Given the description of an element on the screen output the (x, y) to click on. 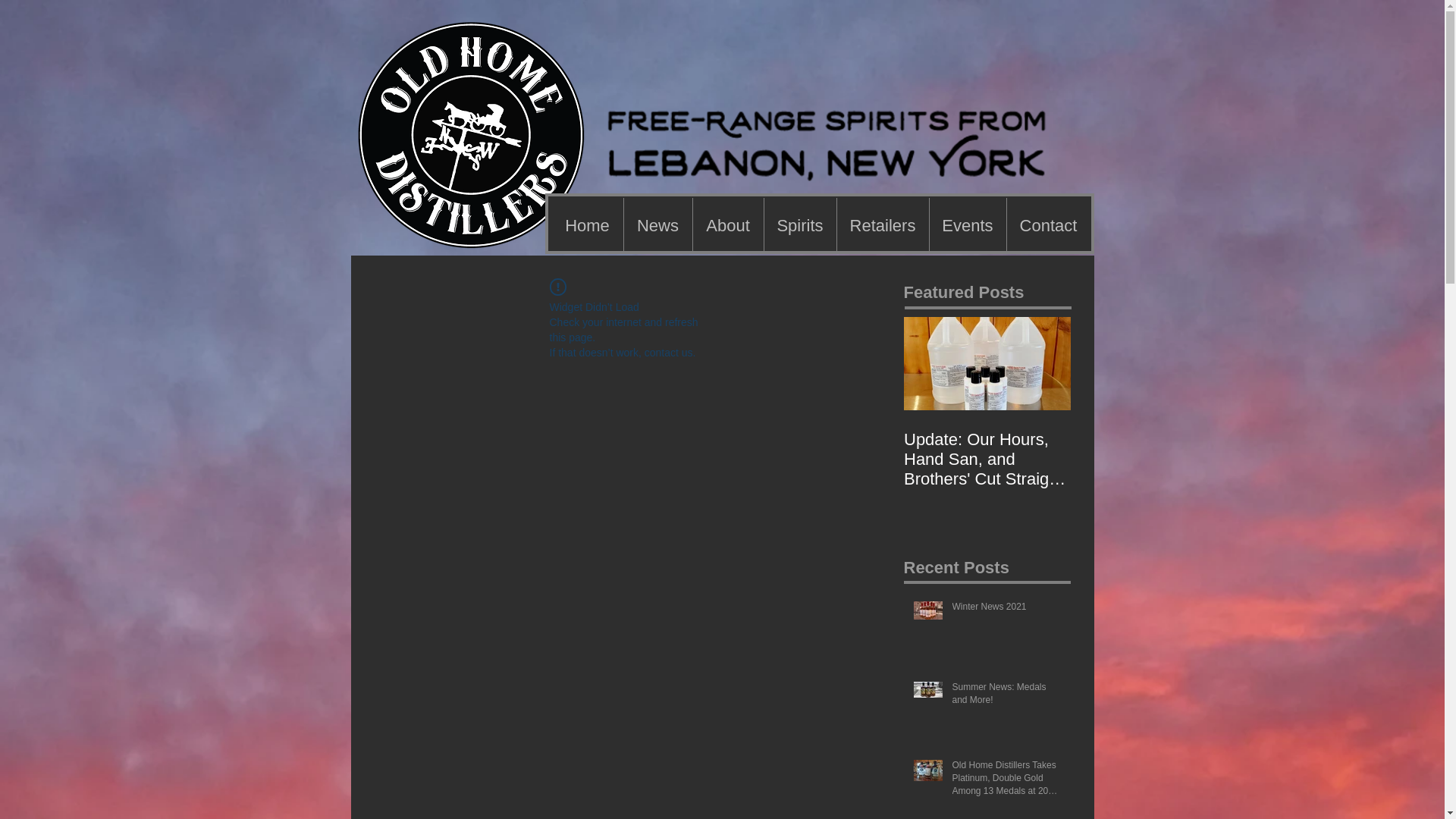
Events (968, 225)
Spirits (799, 225)
Home (587, 225)
Retailers (882, 225)
News (657, 225)
Logo-for-WEB.png (474, 150)
Contact (1048, 225)
About (727, 225)
Summer News: Medals and More! (1006, 696)
Winter News 2021 (1006, 609)
! (557, 286)
